Given the description of an element on the screen output the (x, y) to click on. 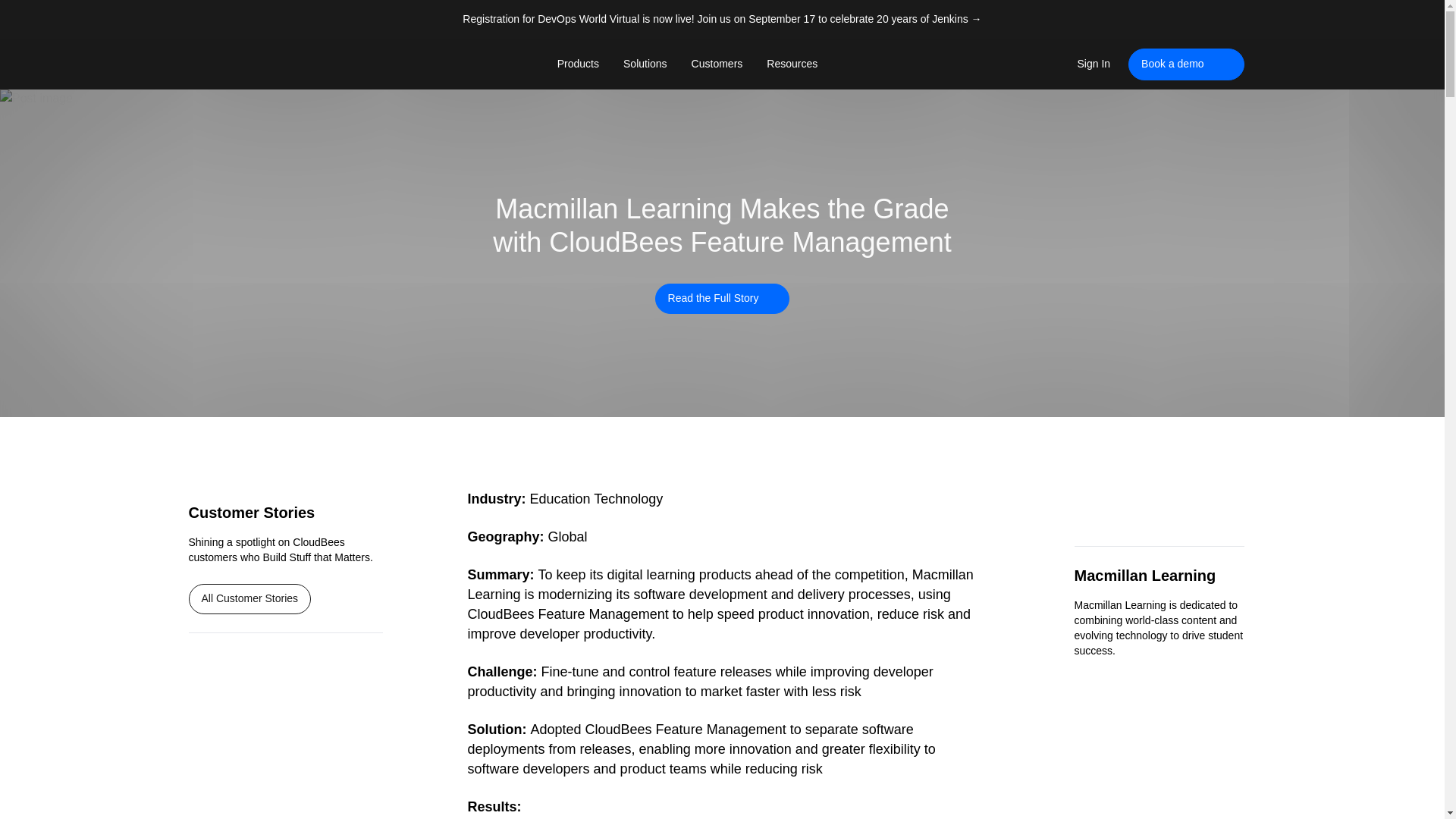
Products (577, 64)
Resources (791, 64)
Solutions (644, 64)
Customers (716, 64)
